Given the description of an element on the screen output the (x, y) to click on. 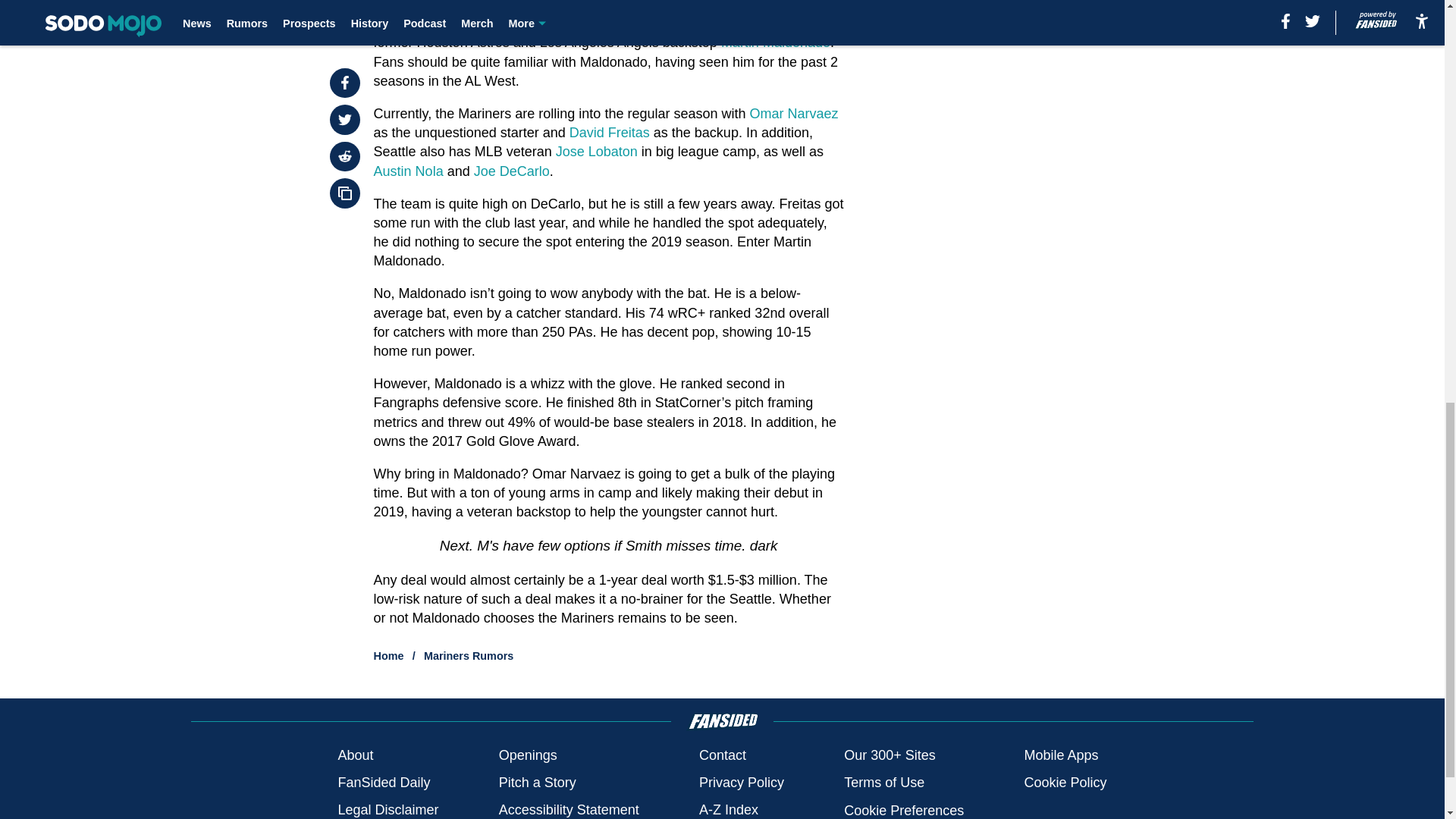
Mariners Rumors (468, 655)
Joe DeCarlo (512, 171)
Home (389, 655)
Jose Lobaton (596, 151)
Martin Maldonado (774, 42)
Austin Nola (409, 171)
David Freitas (609, 132)
Omar Narvaez (793, 113)
